Given the description of an element on the screen output the (x, y) to click on. 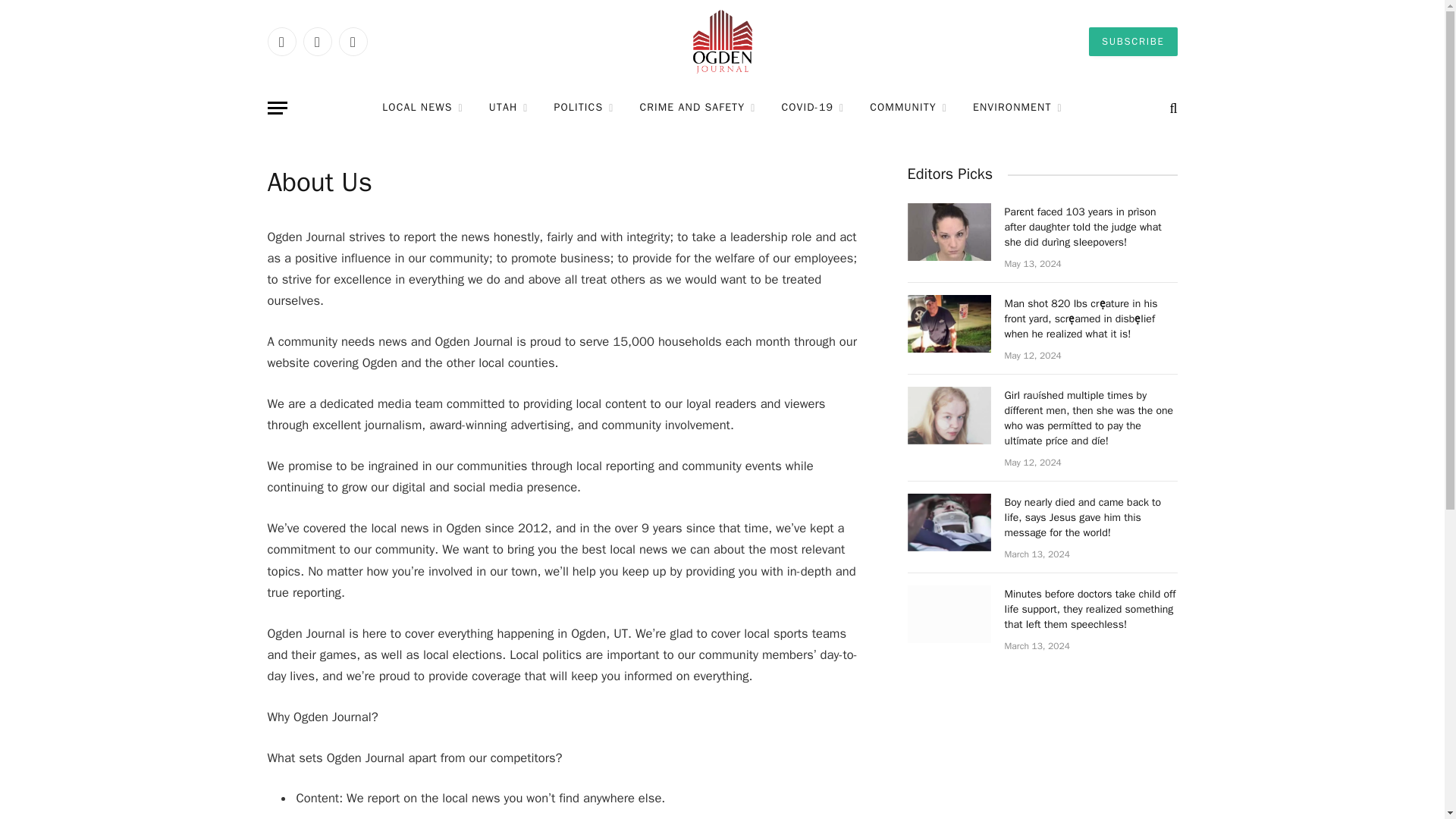
Facebook (280, 41)
Ogden Journal (722, 41)
SUBSCRIBE (1132, 41)
Twitter (316, 41)
LOCAL NEWS (422, 107)
Instagram (351, 41)
UTAH (508, 107)
